Given the description of an element on the screen output the (x, y) to click on. 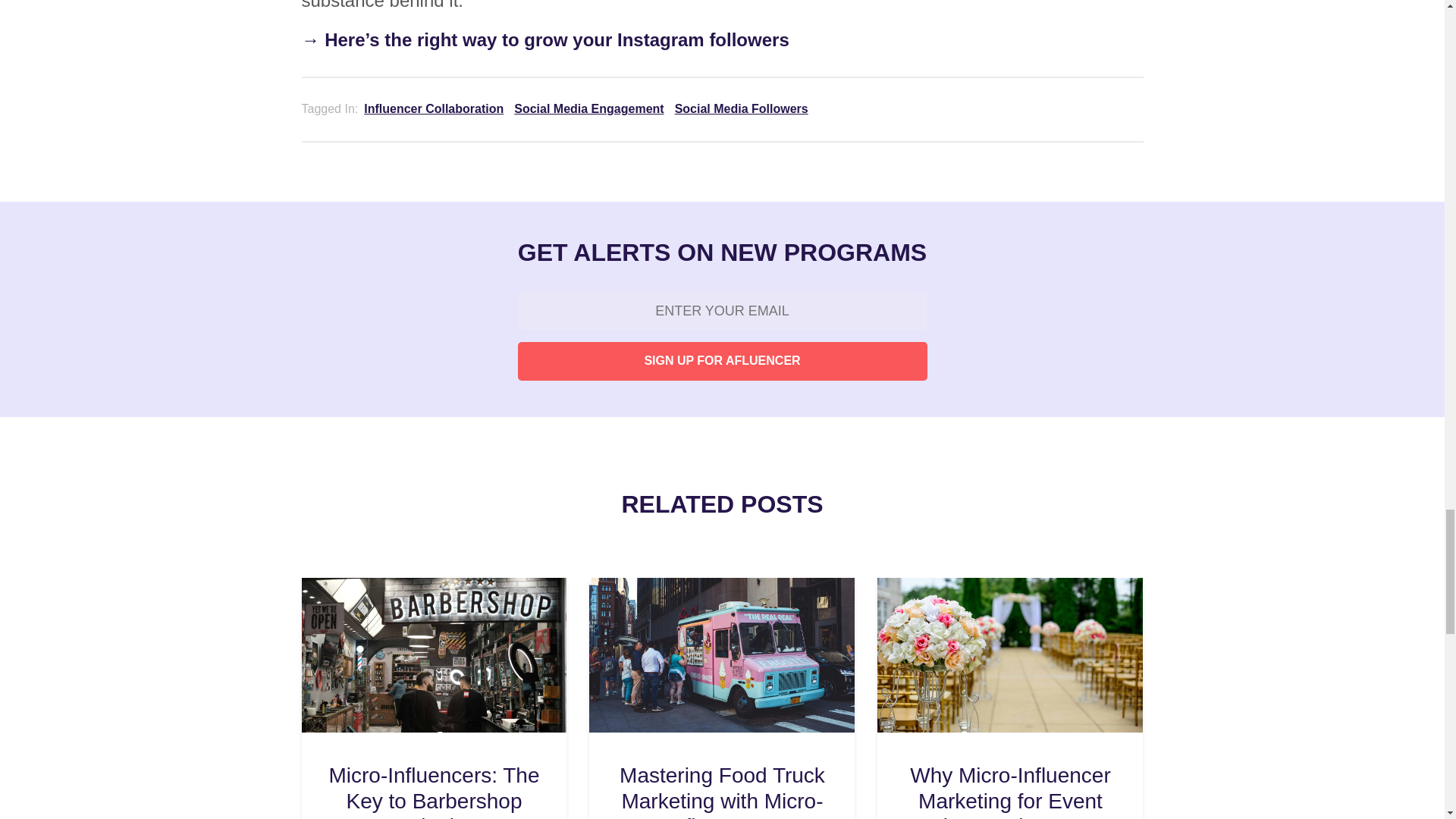
Social Media Followers (741, 108)
Mastering Food Truck Marketing with Micro-Influencers  (721, 790)
SIGN UP FOR AFLUENCER (721, 361)
Social Media Engagement (588, 108)
Influencer Collaboration (433, 108)
SIGN UP FOR AFLUENCER (721, 361)
Micro-Influencers: The Key to Barbershop Marketing  (434, 790)
